Given the description of an element on the screen output the (x, y) to click on. 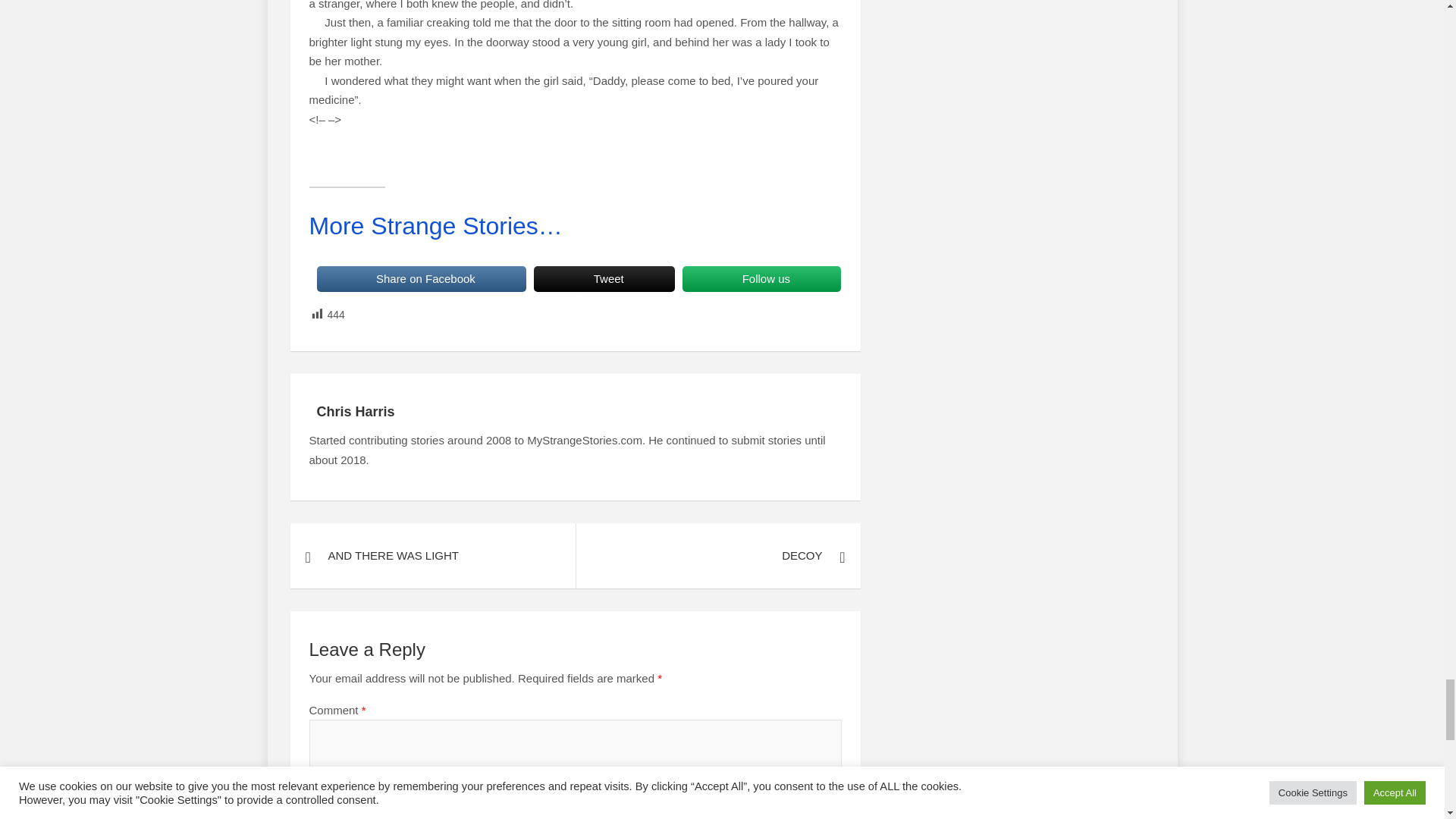
Strange (435, 225)
